Given the description of an element on the screen output the (x, y) to click on. 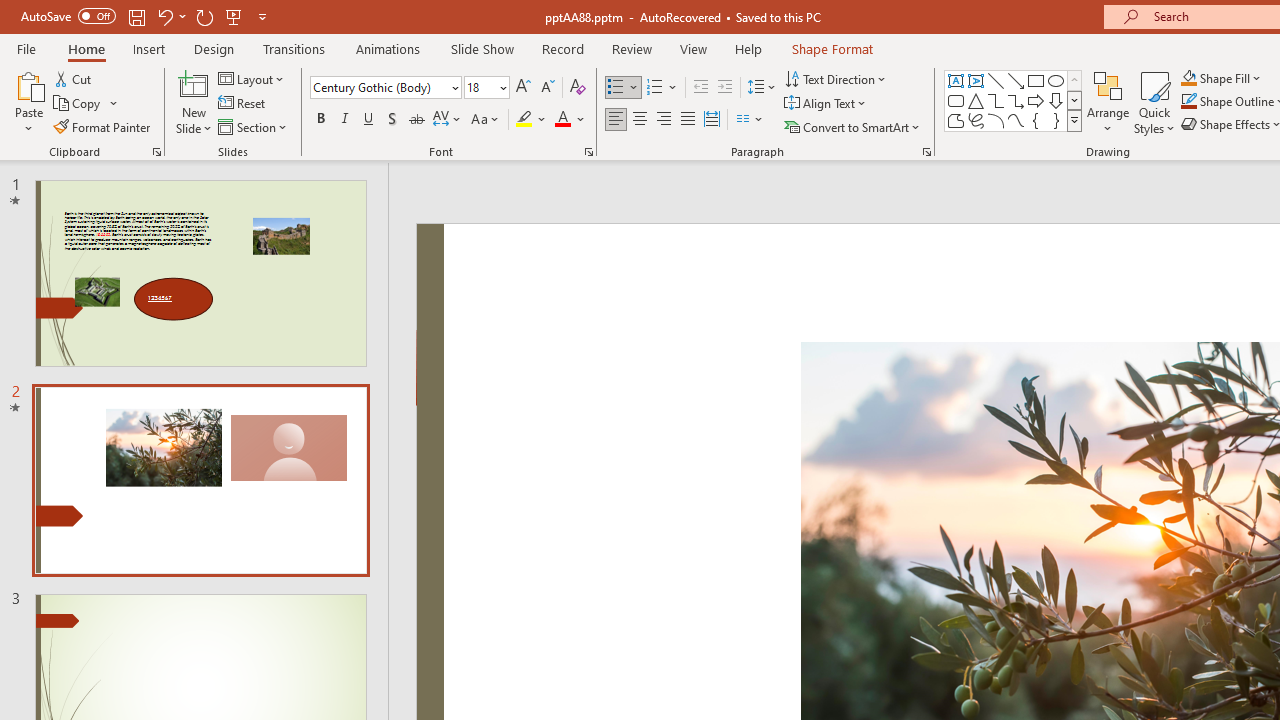
Text Box (955, 80)
Arc (995, 120)
Columns (750, 119)
Numbering (661, 87)
Arrow: Right (1035, 100)
Font Size (486, 87)
Arrow: Down (1055, 100)
Text Highlight Color (531, 119)
